Given the description of an element on the screen output the (x, y) to click on. 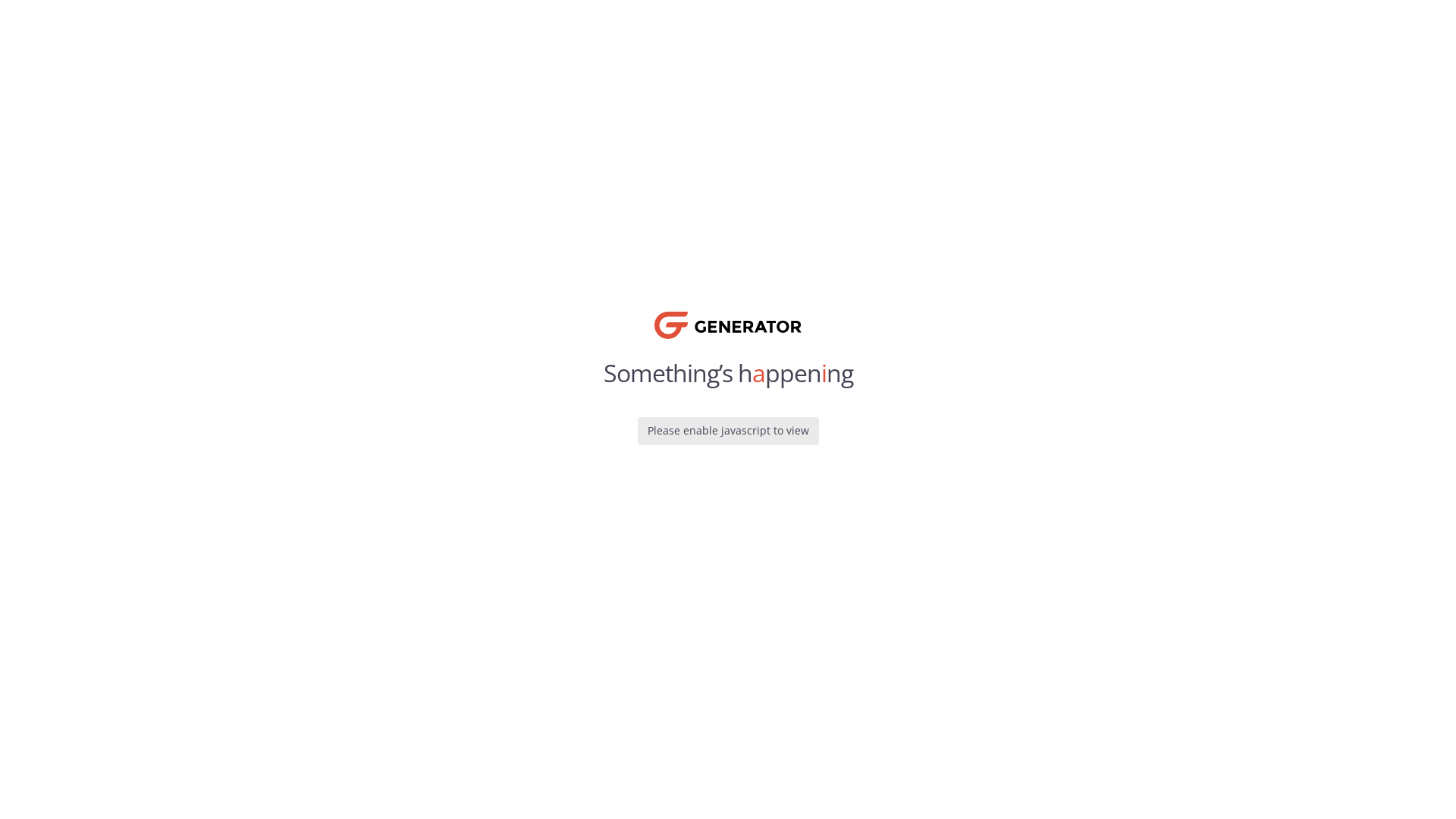
Please enable javascript to view Element type: text (727, 429)
